Given the description of an element on the screen output the (x, y) to click on. 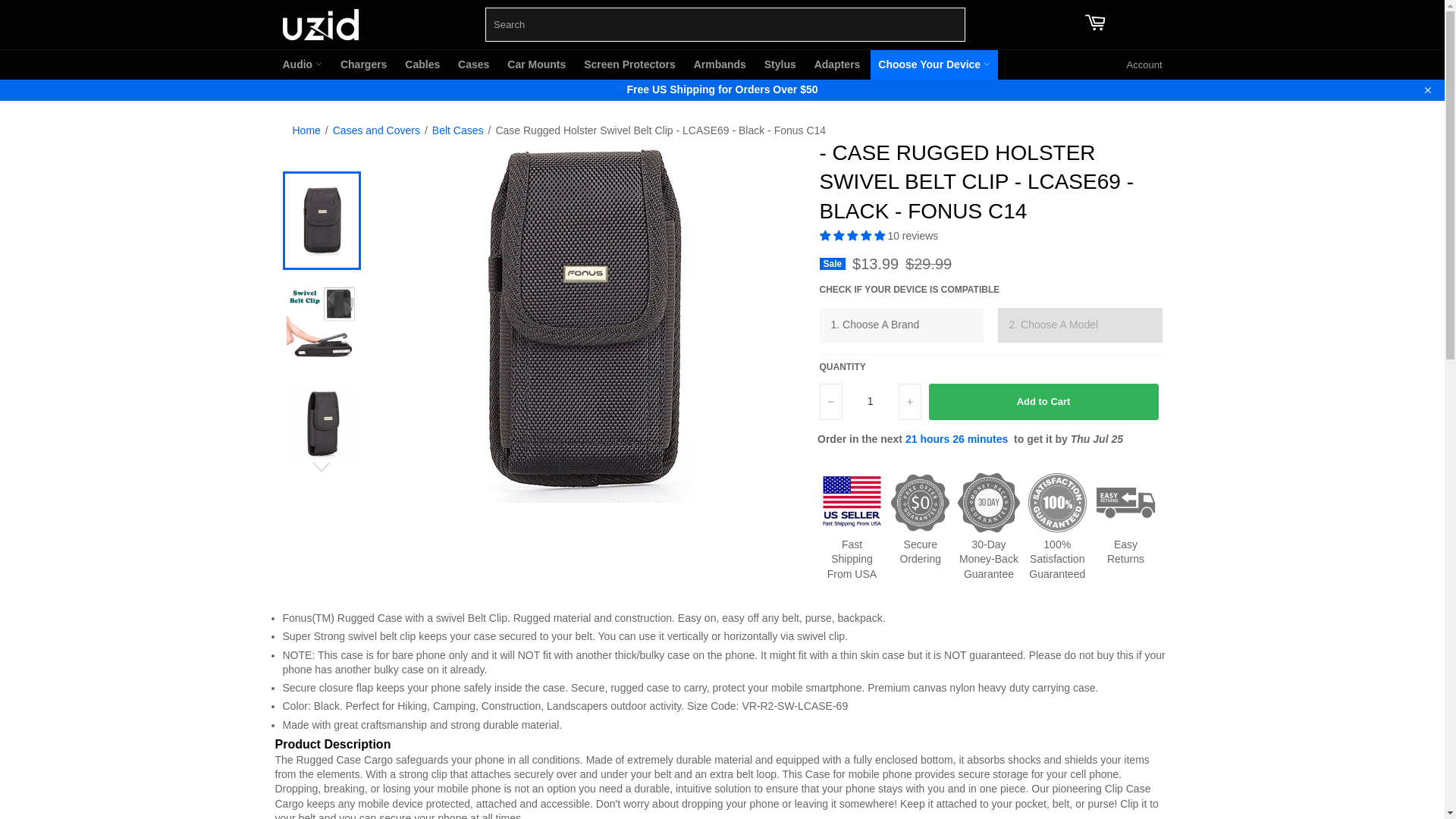
Screen Protectors (629, 64)
Cables (421, 64)
Chargers (363, 64)
Armbands (719, 64)
Adapters (836, 64)
1 (869, 402)
Audio (302, 64)
Cart (1094, 24)
Search (949, 21)
Stylus (780, 64)
Car Mounts (536, 64)
Cases (472, 64)
